Given the description of an element on the screen output the (x, y) to click on. 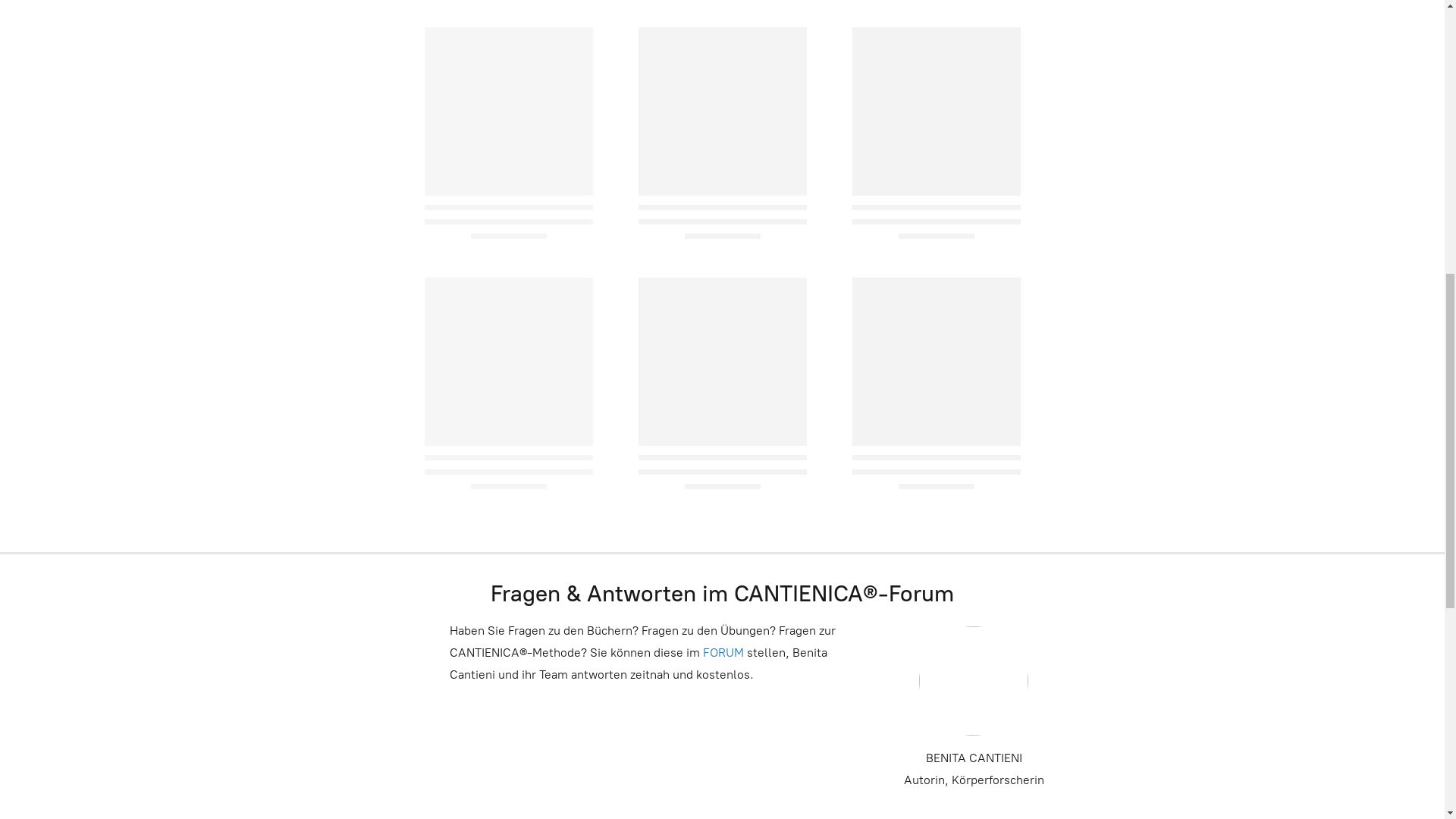
Trainingsvideos Element type: text (487, 601)
Audio-CDs Element type: text (604, 601)
Gadgets Element type: text (834, 601)
LN-Shop CH Element type: text (934, 601)
Workouts (PDF) Element type: text (723, 601)
Jetzt einkaufen Element type: text (722, 440)
Shop Element type: text (43, 29)
Ort Element type: text (167, 29)
Zu den Artikeln Element type: text (721, 506)
Kontakt Element type: text (223, 29)
